Given the description of an element on the screen output the (x, y) to click on. 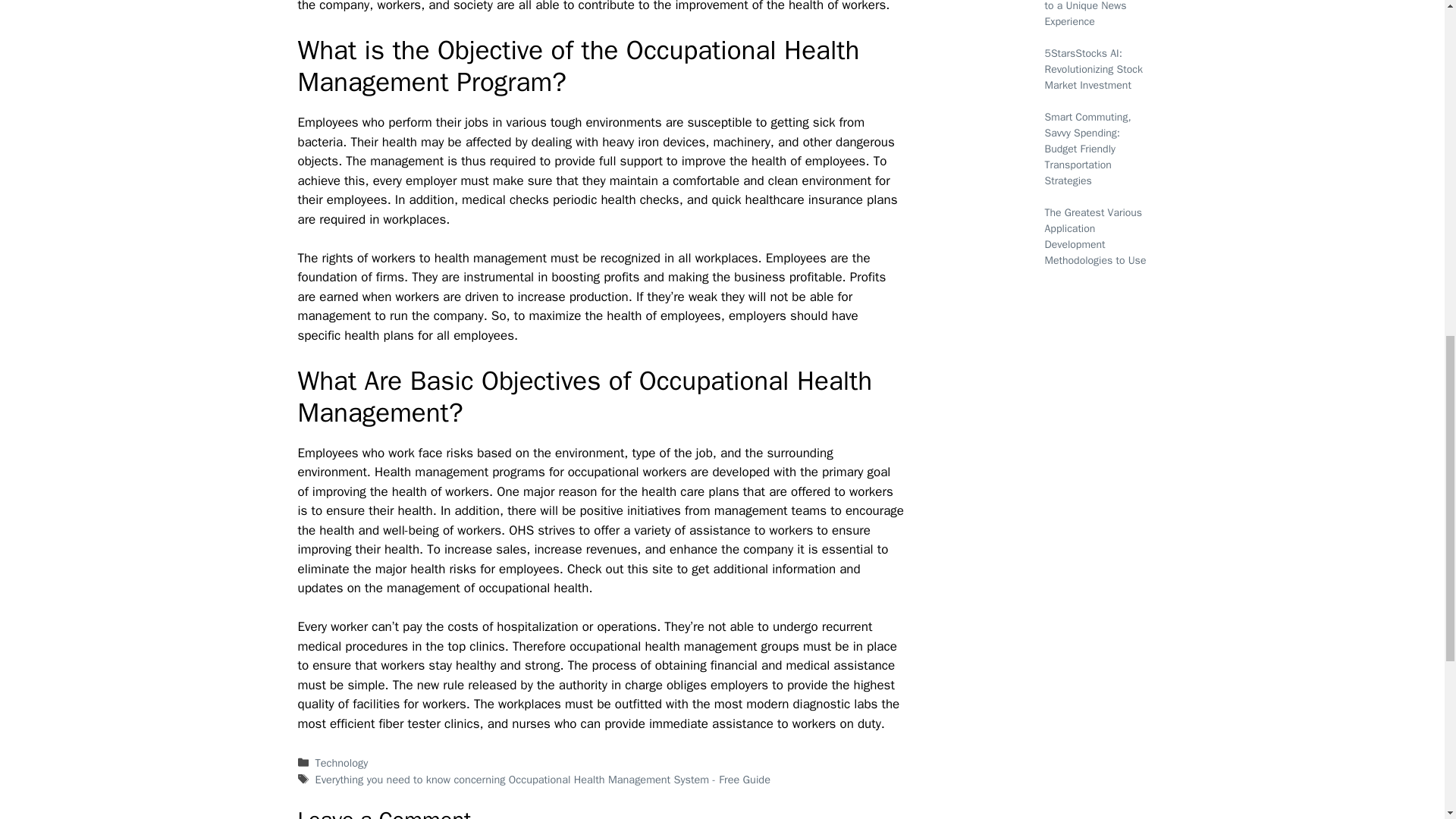
Technology (341, 762)
5StarsStocks AI: Revolutionizing Stock Market Investment (1093, 68)
Scroll back to top (1406, 720)
